Given the description of an element on the screen output the (x, y) to click on. 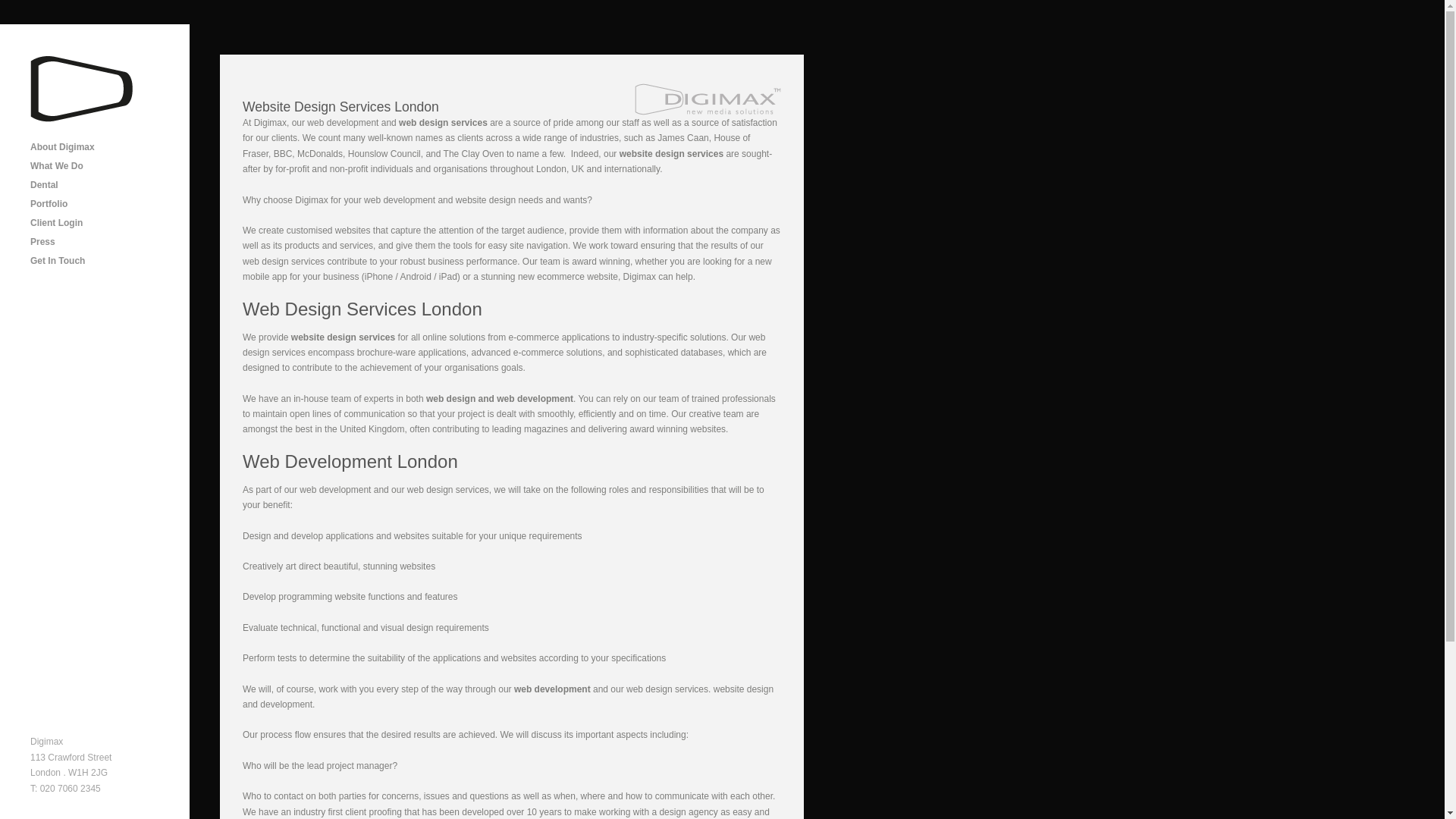
Portfolio (96, 203)
Client Login (96, 222)
About Digimax (96, 147)
What We Do (96, 166)
Get In Touch (96, 261)
Dental (96, 185)
Press (96, 241)
